Given the description of an element on the screen output the (x, y) to click on. 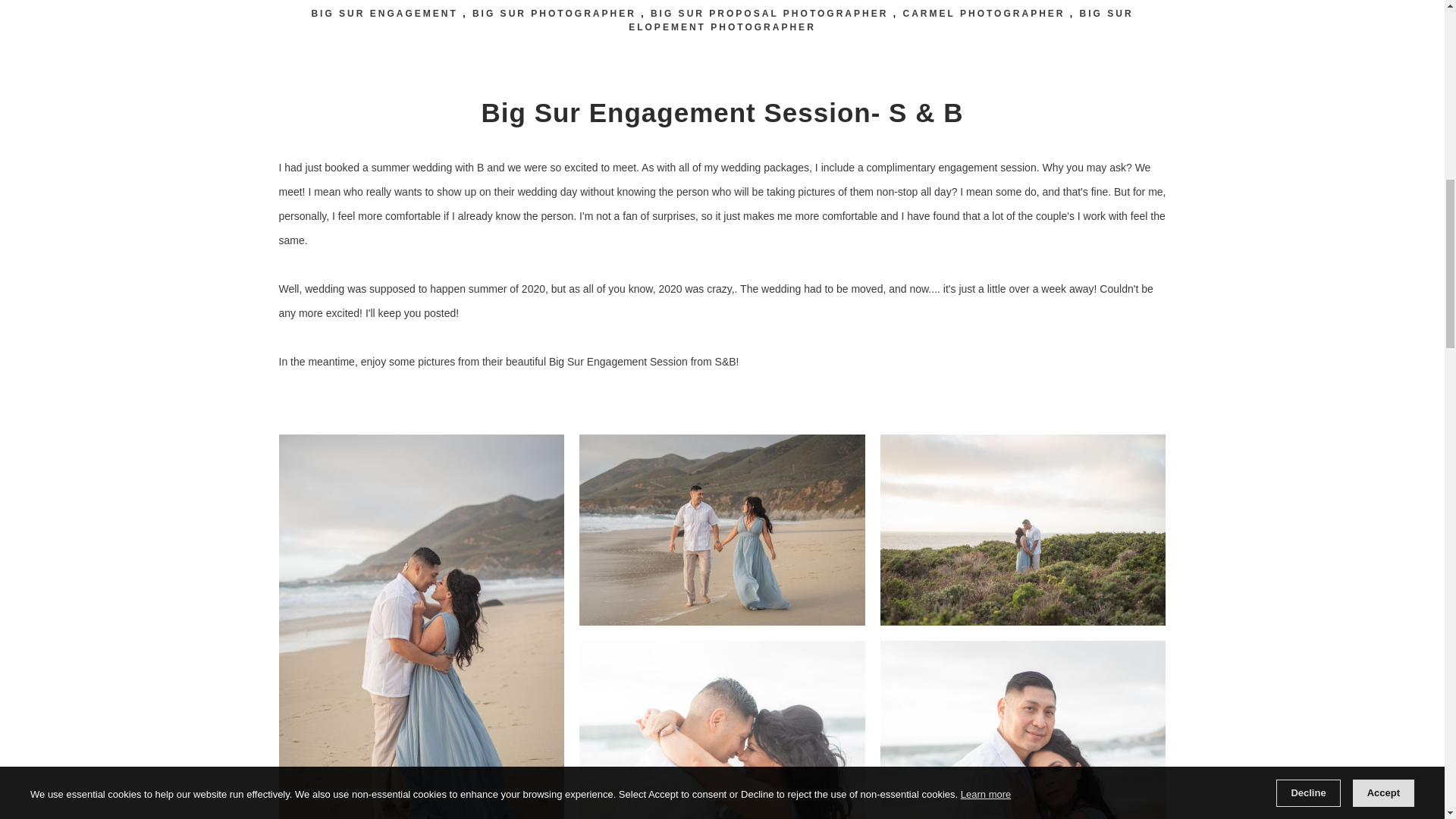
BIG SUR ENGAGEMENT (384, 13)
CARMEL PHOTOGRAPHER (983, 13)
BIG SUR PHOTOGRAPHER (553, 13)
BIG SUR PROPOSAL PHOTOGRAPHER (769, 13)
BIG SUR ELOPEMENT PHOTOGRAPHER (880, 20)
